Given the description of an element on the screen output the (x, y) to click on. 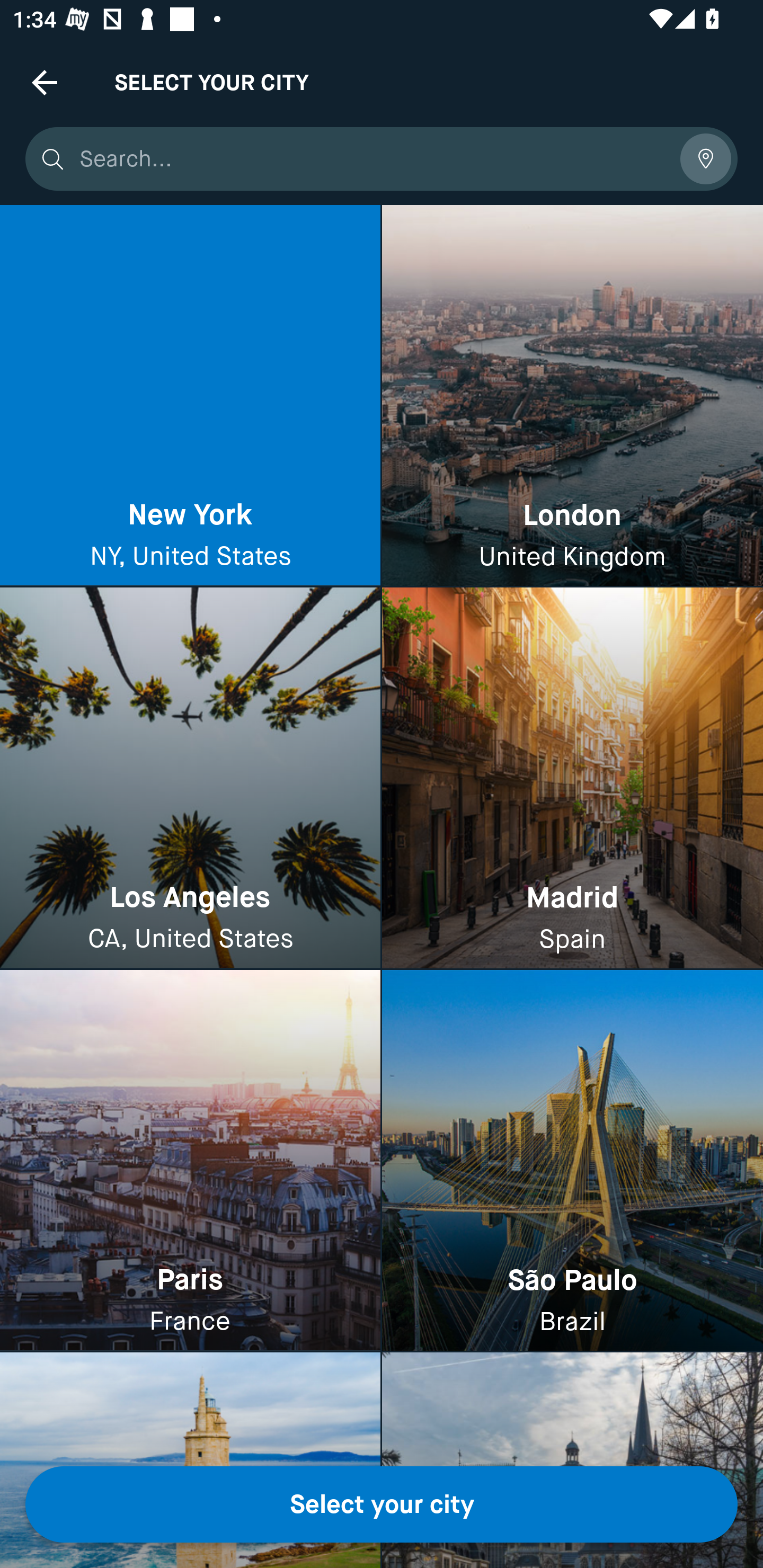
Navigate up (44, 82)
Search... (373, 159)
New York NY, United States (190, 395)
London United Kingdom (572, 395)
Los Angeles CA, United States (190, 778)
Madrid Spain (572, 778)
Paris France (190, 1160)
São Paulo Brazil (572, 1160)
Select your city (381, 1504)
